Given the description of an element on the screen output the (x, y) to click on. 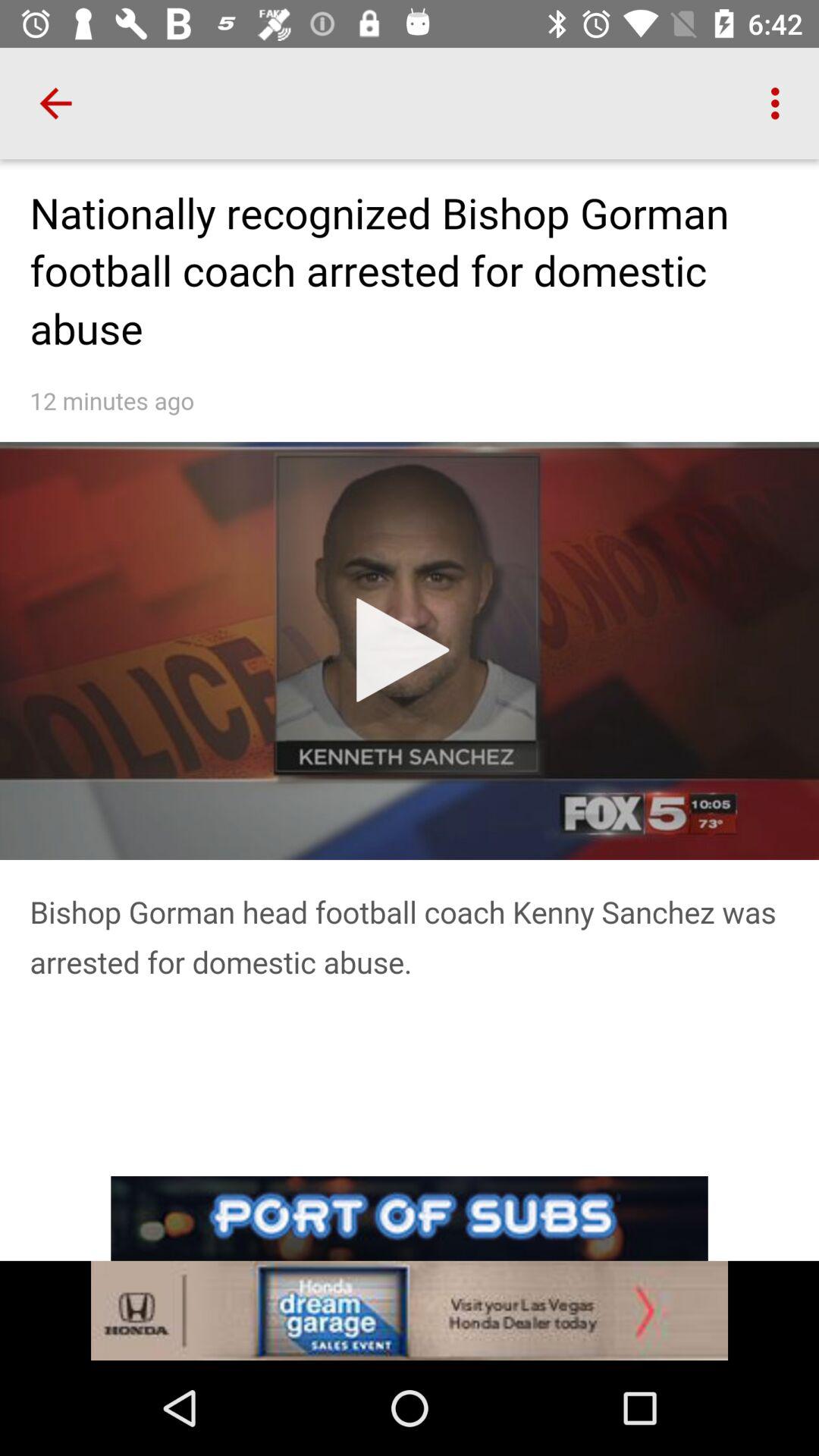
more information about an advertisement (409, 1310)
